Given the description of an element on the screen output the (x, y) to click on. 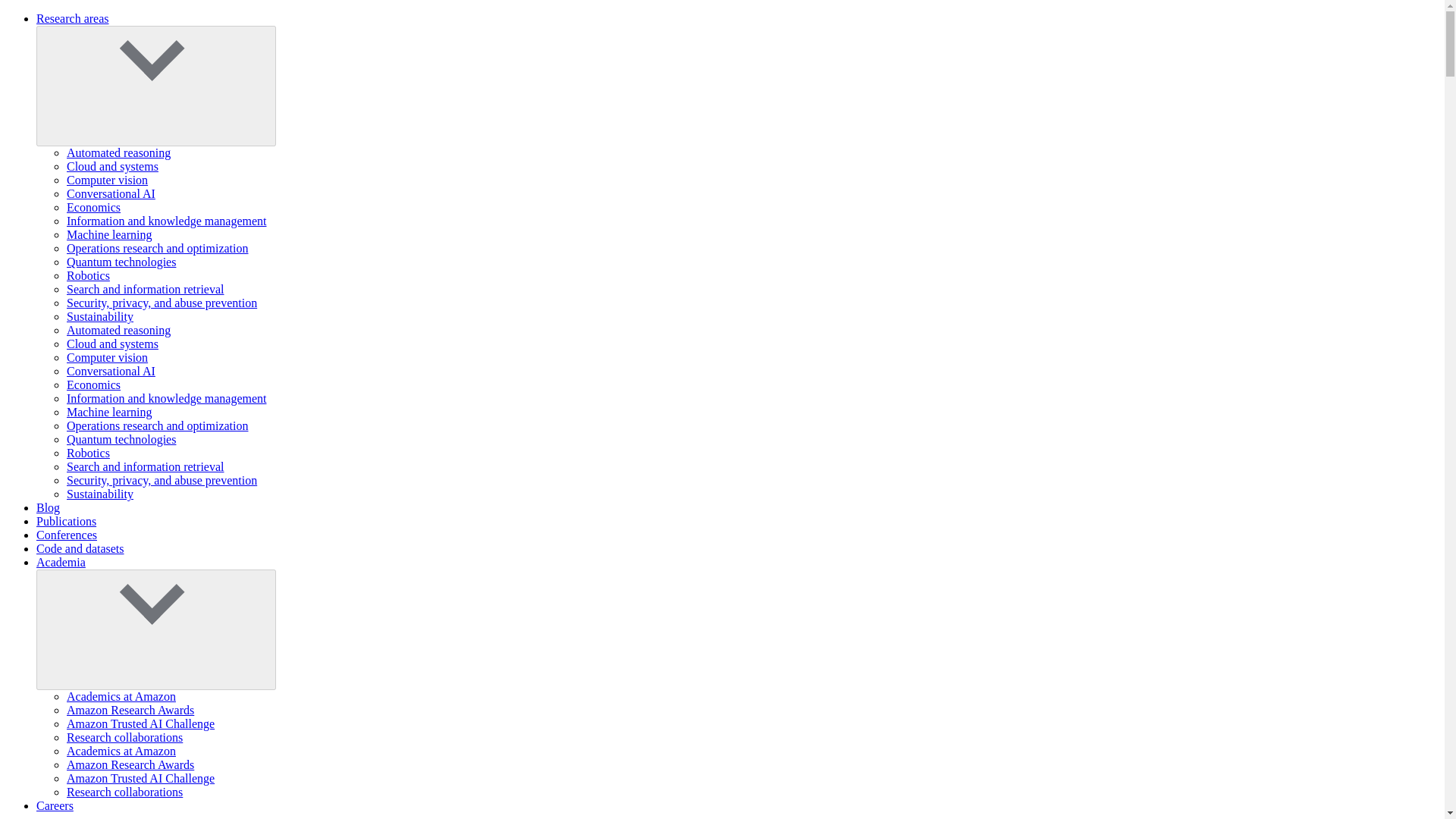
Machine learning (108, 234)
Conversational AI (110, 370)
Blog (47, 507)
Academia (60, 562)
Academics at Amazon (121, 696)
Information and knowledge management (166, 220)
Robotics (88, 275)
Quantum technologies (121, 261)
Information and knowledge management (166, 398)
Research collaborations (124, 737)
Conferences (66, 534)
Search and information retrieval (145, 288)
Robotics (88, 452)
Cloud and systems (112, 165)
Publications (66, 521)
